Given the description of an element on the screen output the (x, y) to click on. 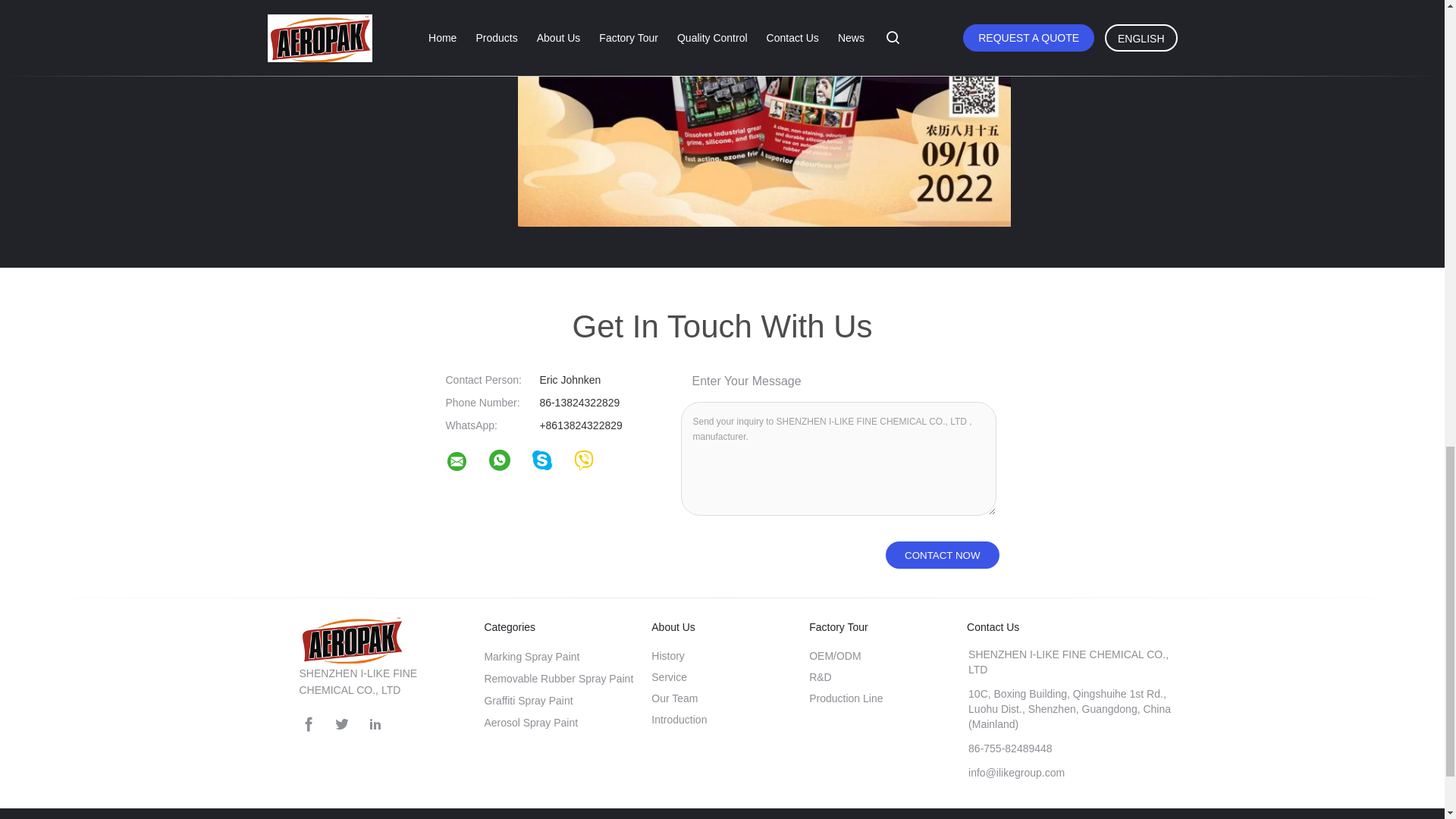
Contact Now (941, 554)
